Given the description of an element on the screen output the (x, y) to click on. 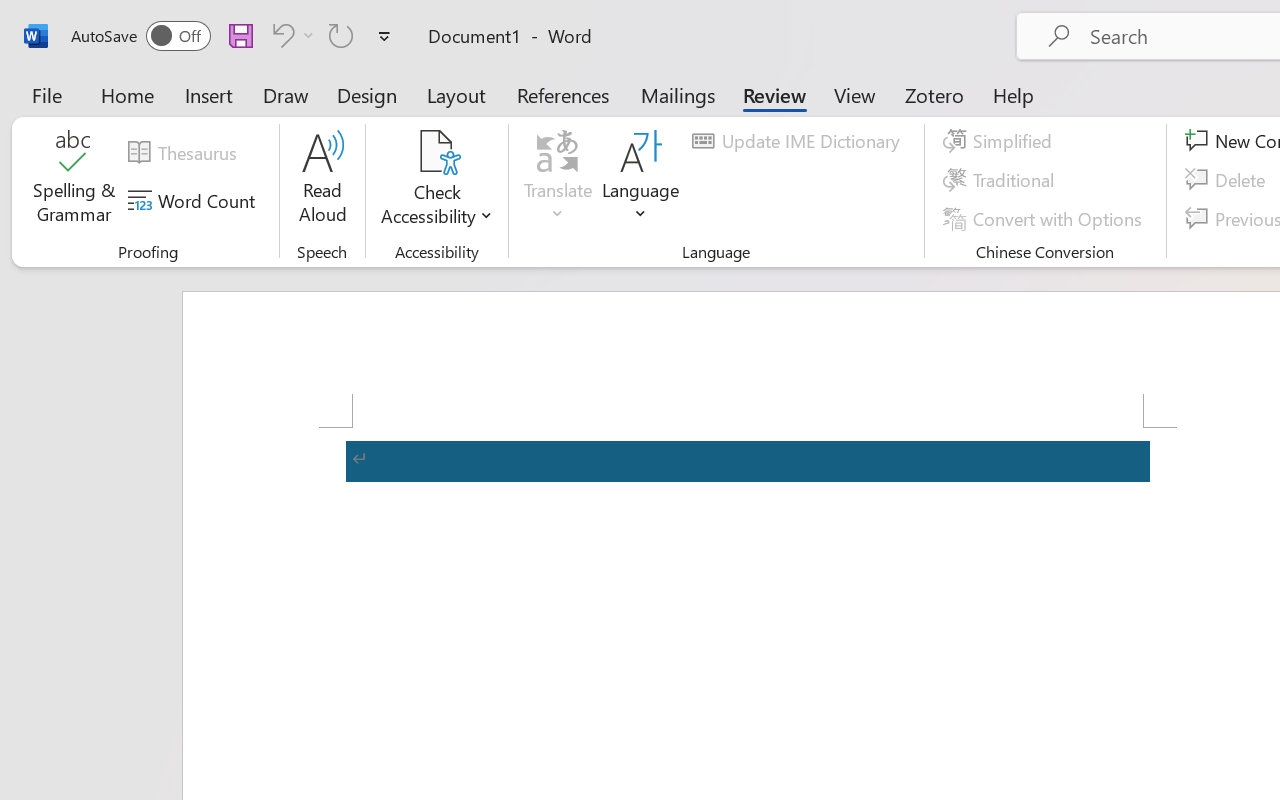
Spelling & Grammar (74, 180)
Update IME Dictionary... (799, 141)
Check Accessibility (436, 179)
Undo Apply Quick Style Set (290, 35)
Delete (1227, 179)
